Given the description of an element on the screen output the (x, y) to click on. 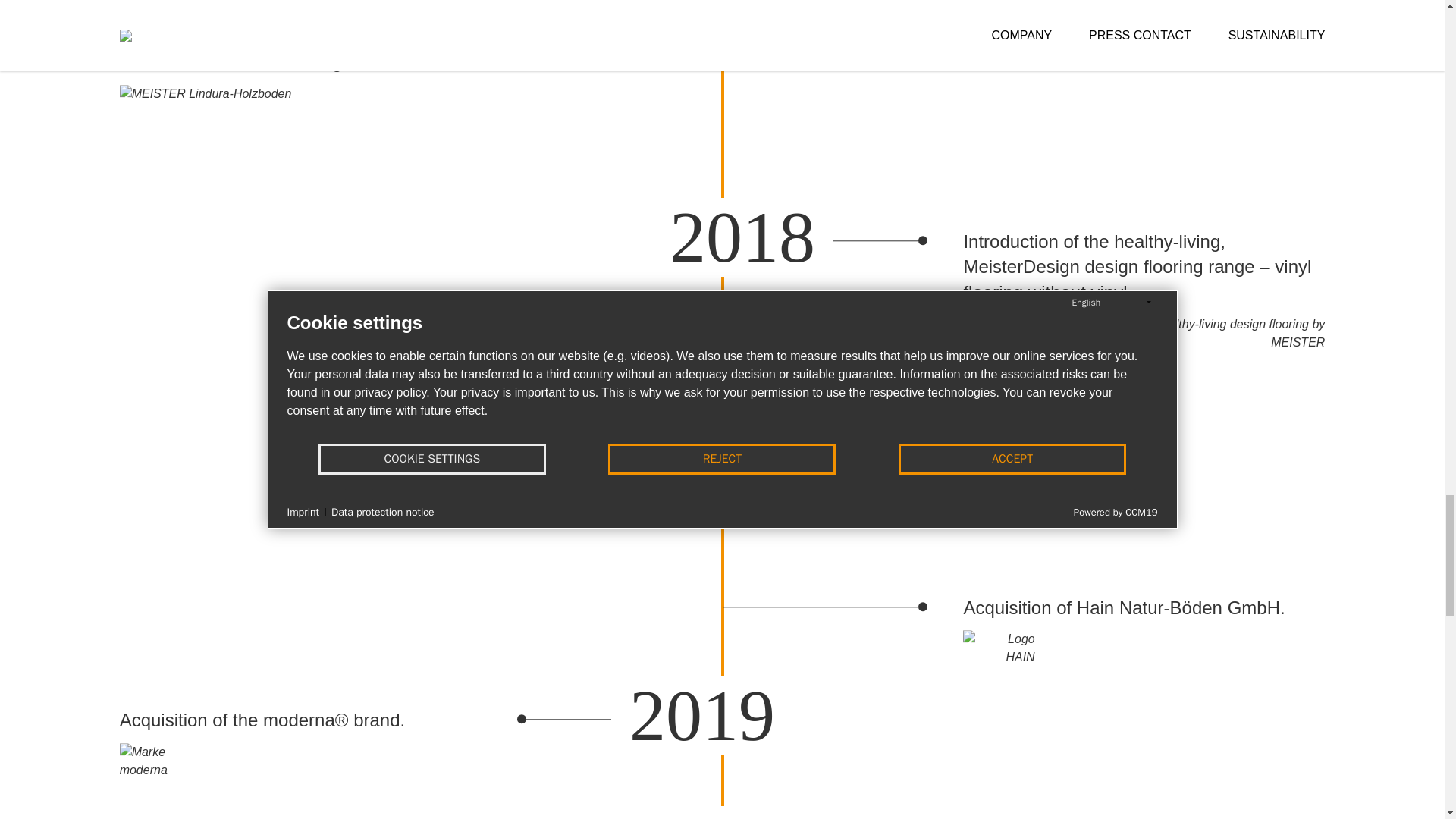
Innovativer Holzboden Lindura von MEISTER (205, 142)
